Given the description of an element on the screen output the (x, y) to click on. 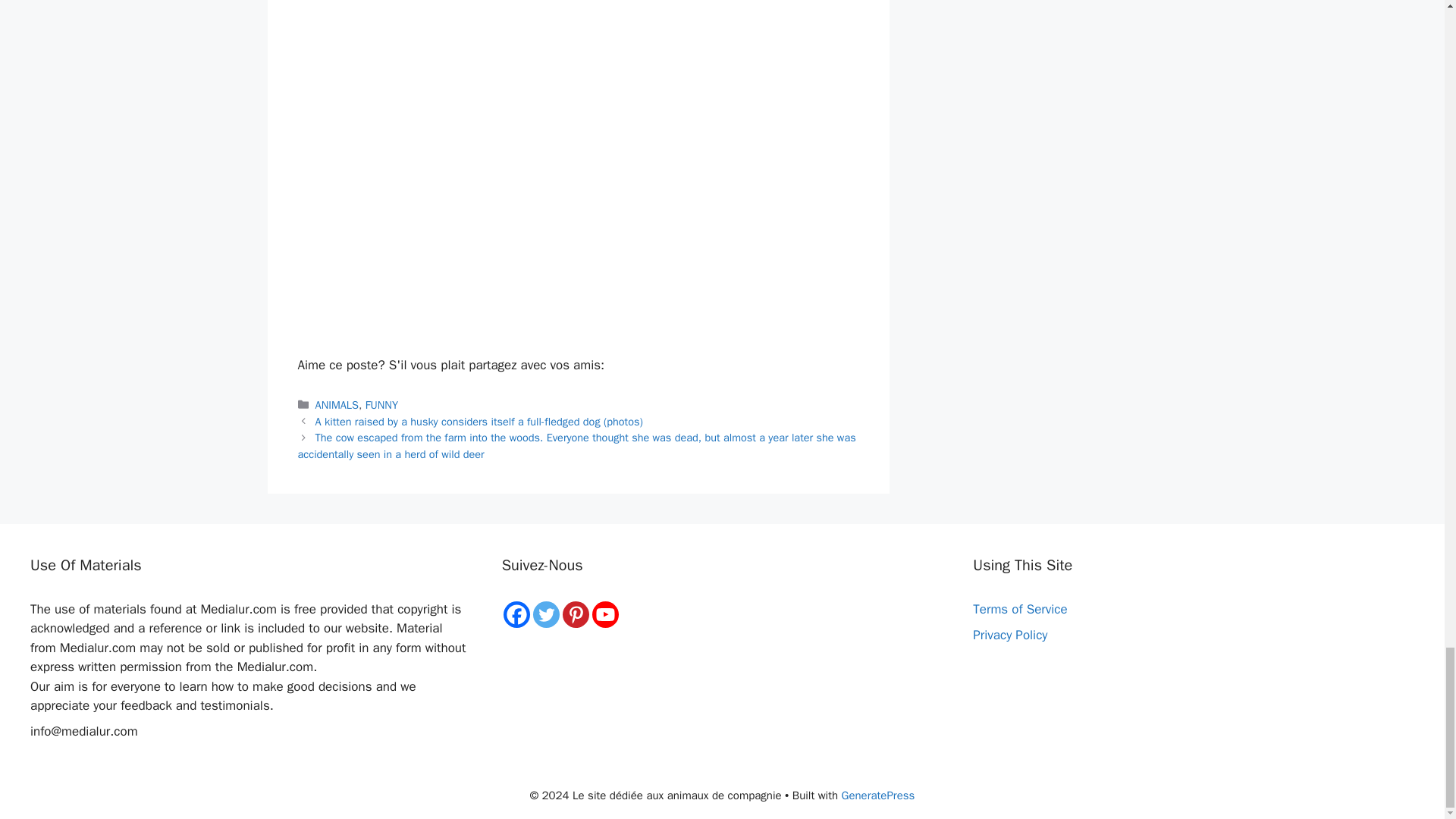
FUNNY (381, 404)
ANIMALS (336, 404)
